Given the description of an element on the screen output the (x, y) to click on. 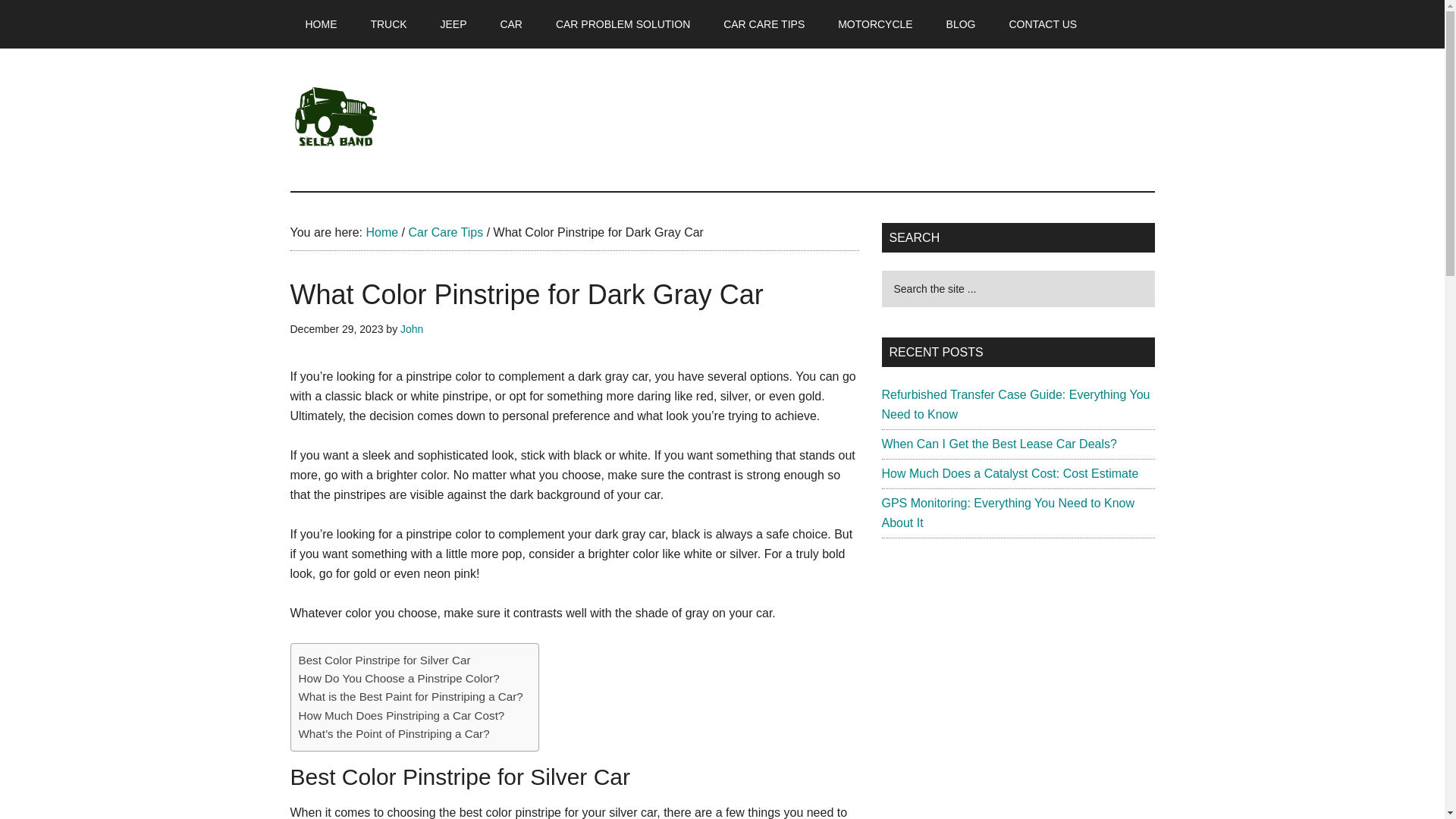
HOME (320, 24)
How Much Does Pinstriping a Car Cost? (401, 715)
Blog (961, 24)
Car Care Tips (445, 232)
How Much Does a Catalyst Cost: Cost Estimate (1009, 472)
CAR (510, 24)
What is the Best Paint for Pinstriping a Car? (410, 696)
Home (320, 24)
